Given the description of an element on the screen output the (x, y) to click on. 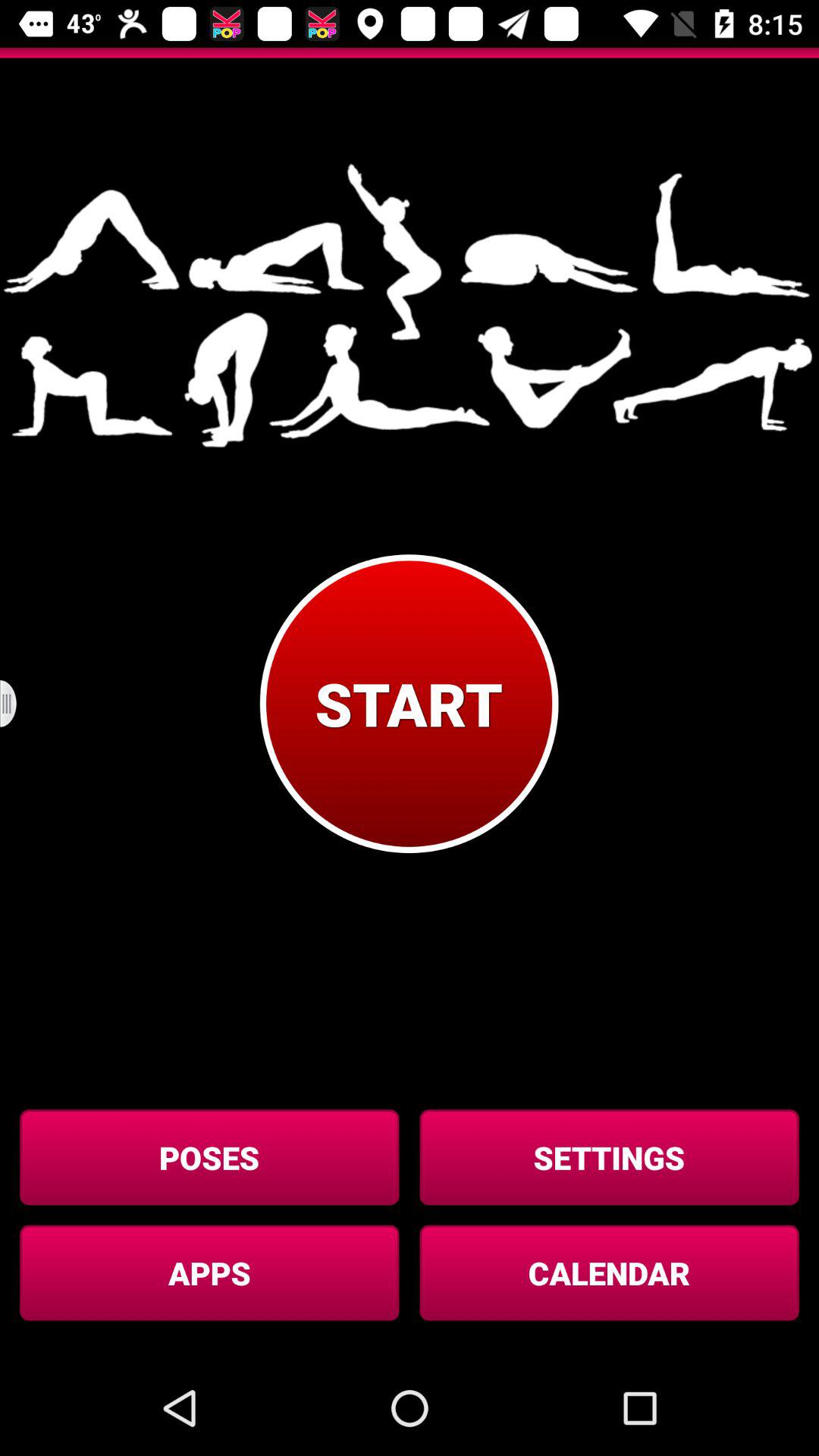
turn off icon to the right of poses button (609, 1157)
